Given the description of an element on the screen output the (x, y) to click on. 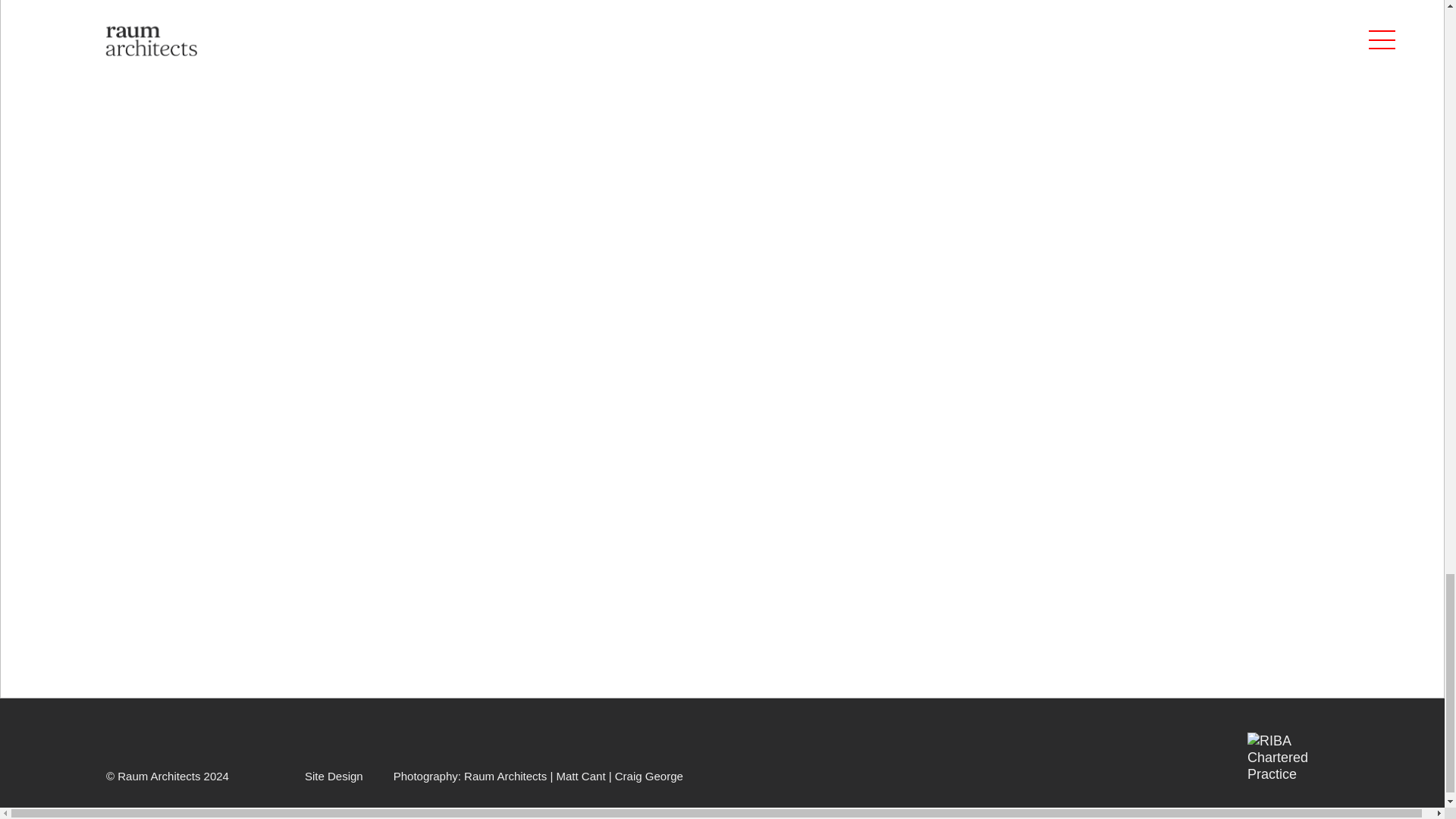
Site Design (333, 775)
